Given the description of an element on the screen output the (x, y) to click on. 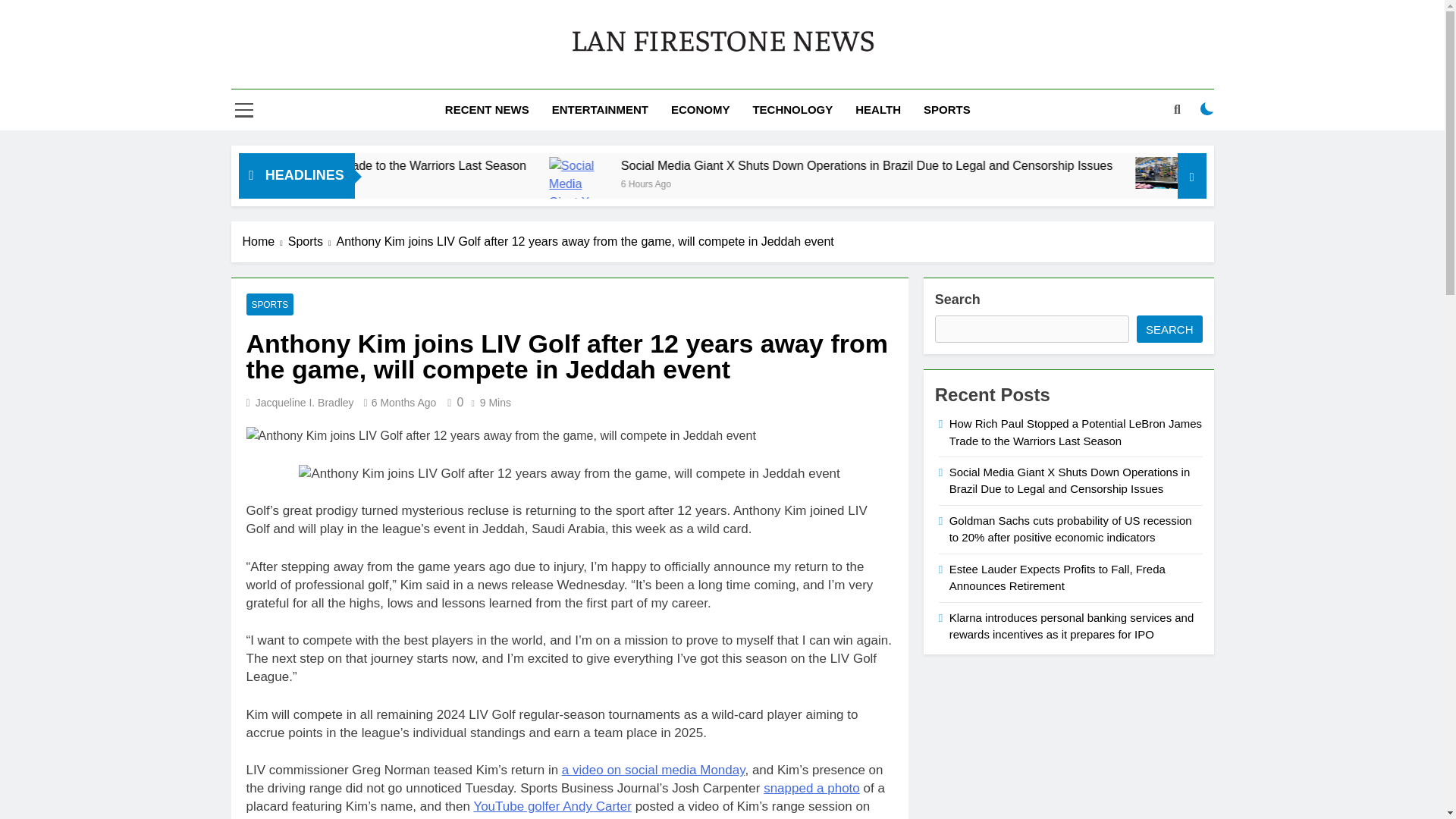
HEALTH (878, 109)
TECHNOLOGY (792, 109)
Lan Firestone (582, 75)
6 Hours Ago (400, 182)
RECENT NEWS (486, 109)
SPORTS (946, 109)
ENTERTAINMENT (599, 109)
